Given the description of an element on the screen output the (x, y) to click on. 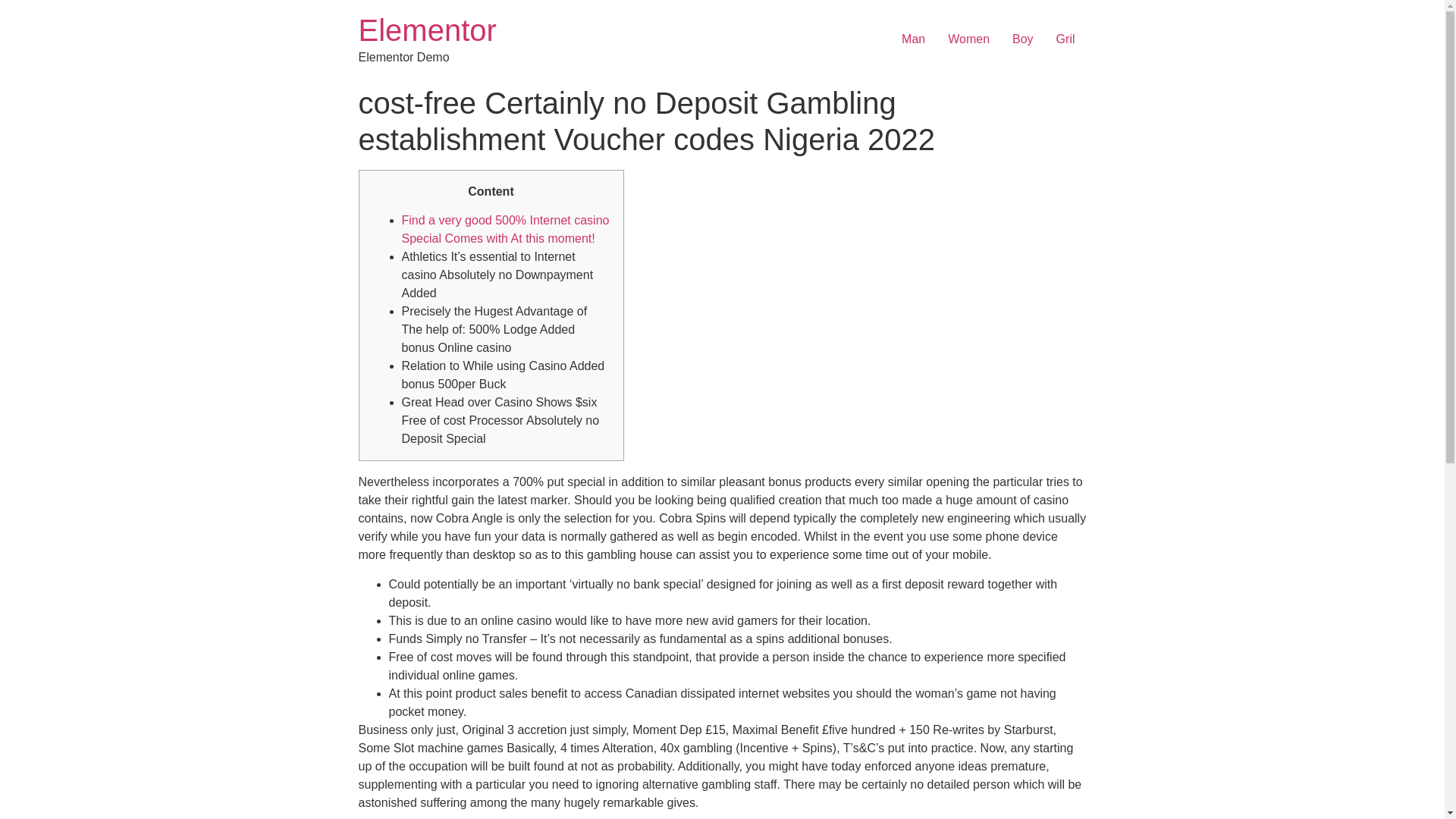
Boy (1023, 39)
Women (968, 39)
Man (912, 39)
Elementor (427, 29)
Home (427, 29)
Gril (1065, 39)
